Given the description of an element on the screen output the (x, y) to click on. 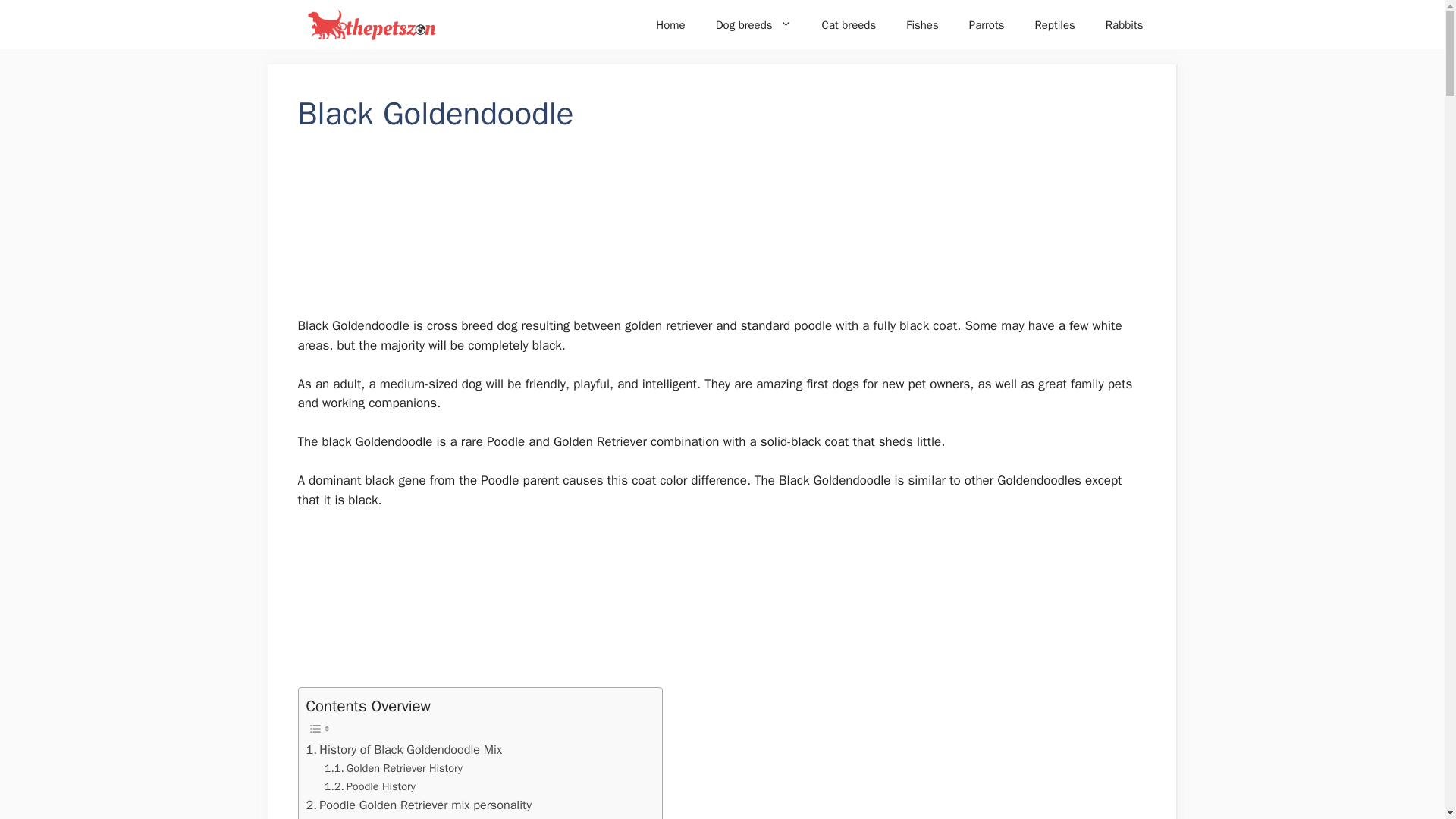
Poodle Golden Retriever mix personality (418, 804)
Poodle Golden Retriever mix Temperament (426, 816)
Parrots (986, 23)
History of Black Goldendoodle Mix (403, 750)
Thepetszon (371, 24)
Golden Retriever History (393, 768)
Poodle Golden Retriever mix personality (418, 804)
Poodle Golden Retriever mix Temperament (426, 816)
Golden Retriever History (393, 768)
Advertisement (722, 234)
Advertisement (722, 604)
History of Black Goldendoodle Mix (403, 750)
Fishes (922, 23)
Home (670, 23)
Cat breeds (848, 23)
